Given the description of an element on the screen output the (x, y) to click on. 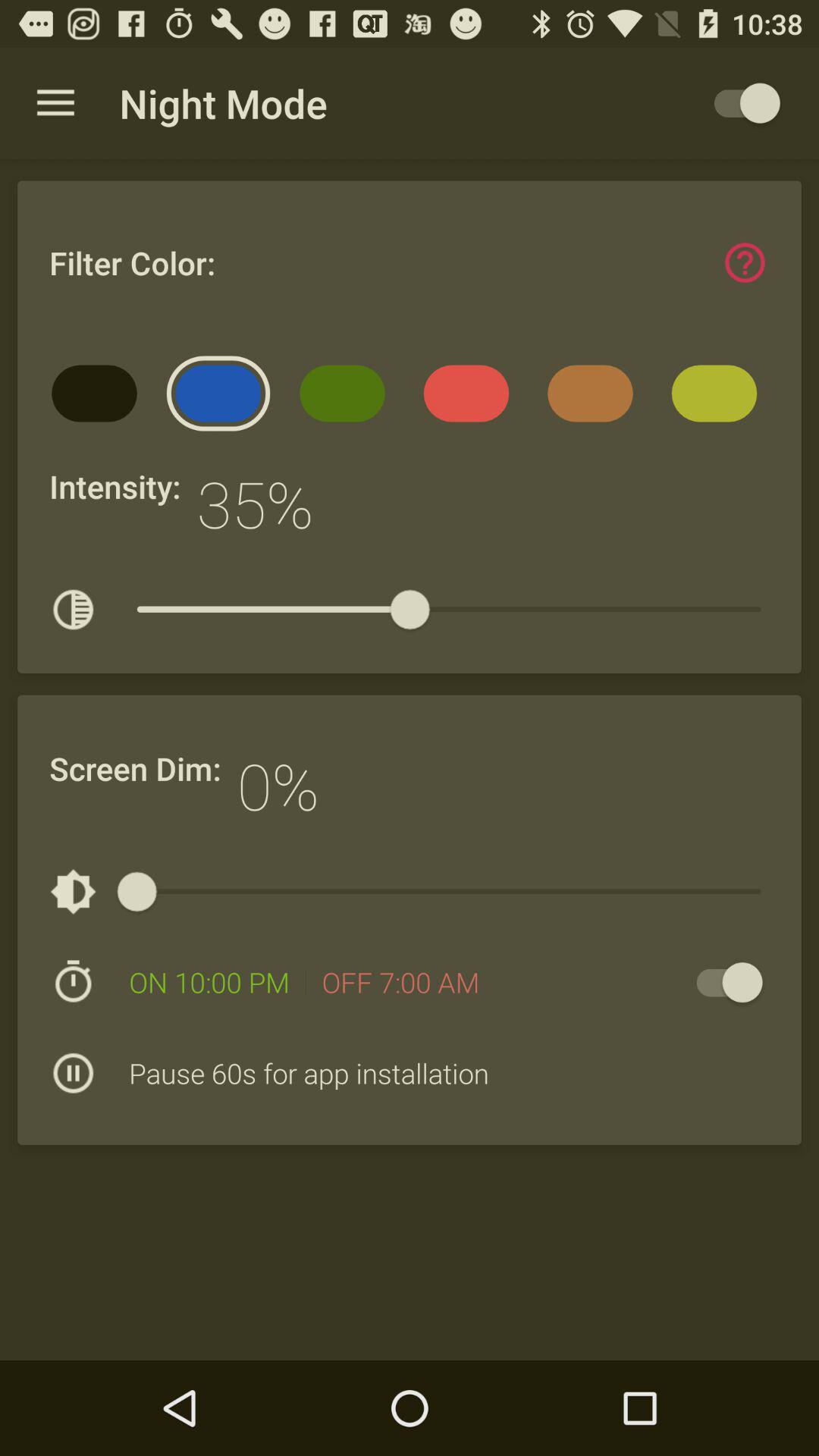
option to turn night mode on and off (722, 982)
